Given the description of an element on the screen output the (x, y) to click on. 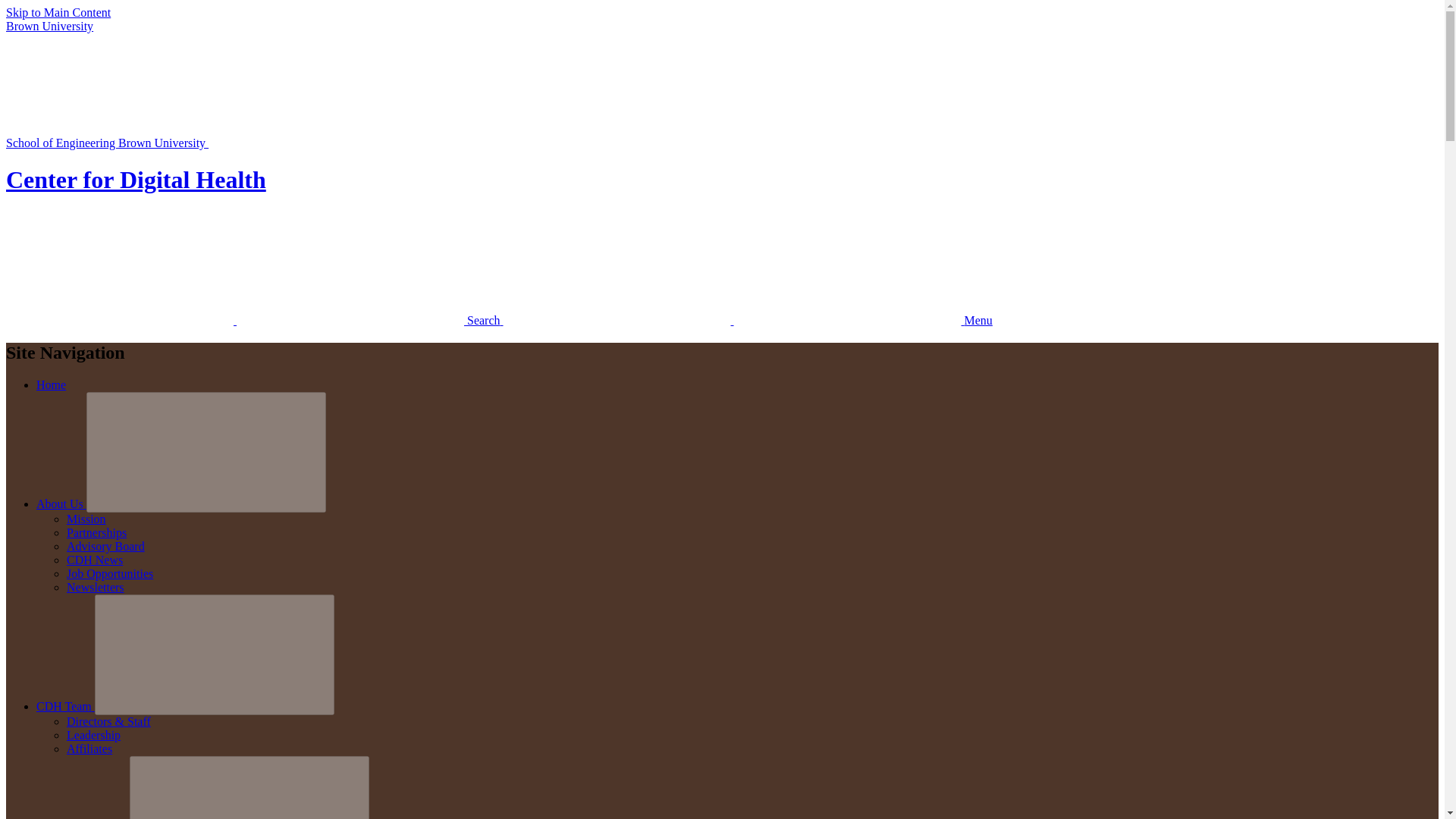
Brown University (49, 25)
Center for Digital Health (135, 179)
CDH Team (65, 706)
School of Engineering Brown University (220, 142)
Home (50, 384)
CDH News (94, 559)
Advisory Board (105, 545)
About Us (60, 503)
Search (254, 319)
Job Opportunities (109, 573)
Mission (86, 518)
Newsletters (94, 586)
Affiliates (89, 748)
Menu (747, 319)
Partnerships (96, 532)
